Given the description of an element on the screen output the (x, y) to click on. 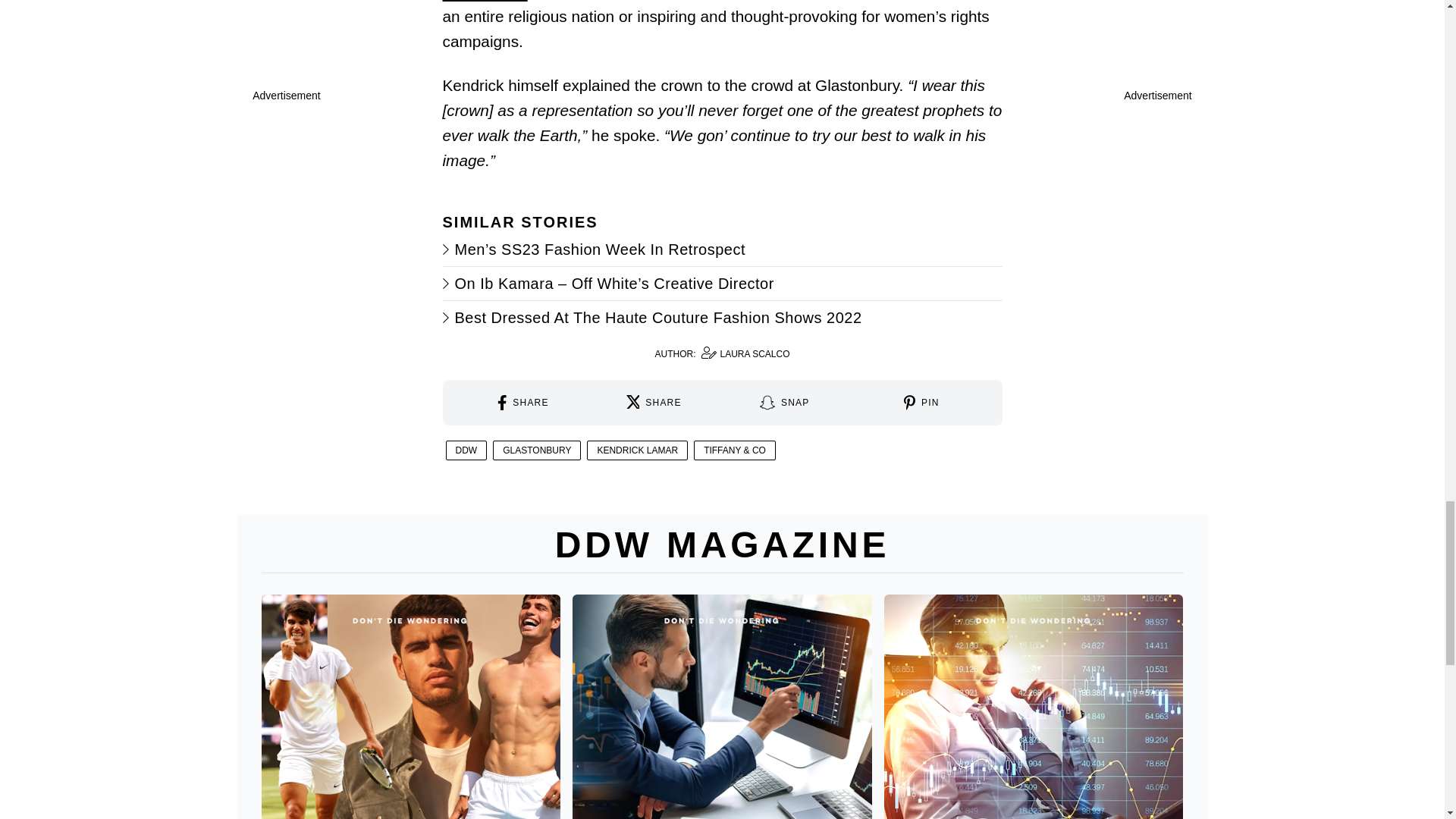
SHARE (653, 402)
SHARE (722, 353)
